Given the description of an element on the screen output the (x, y) to click on. 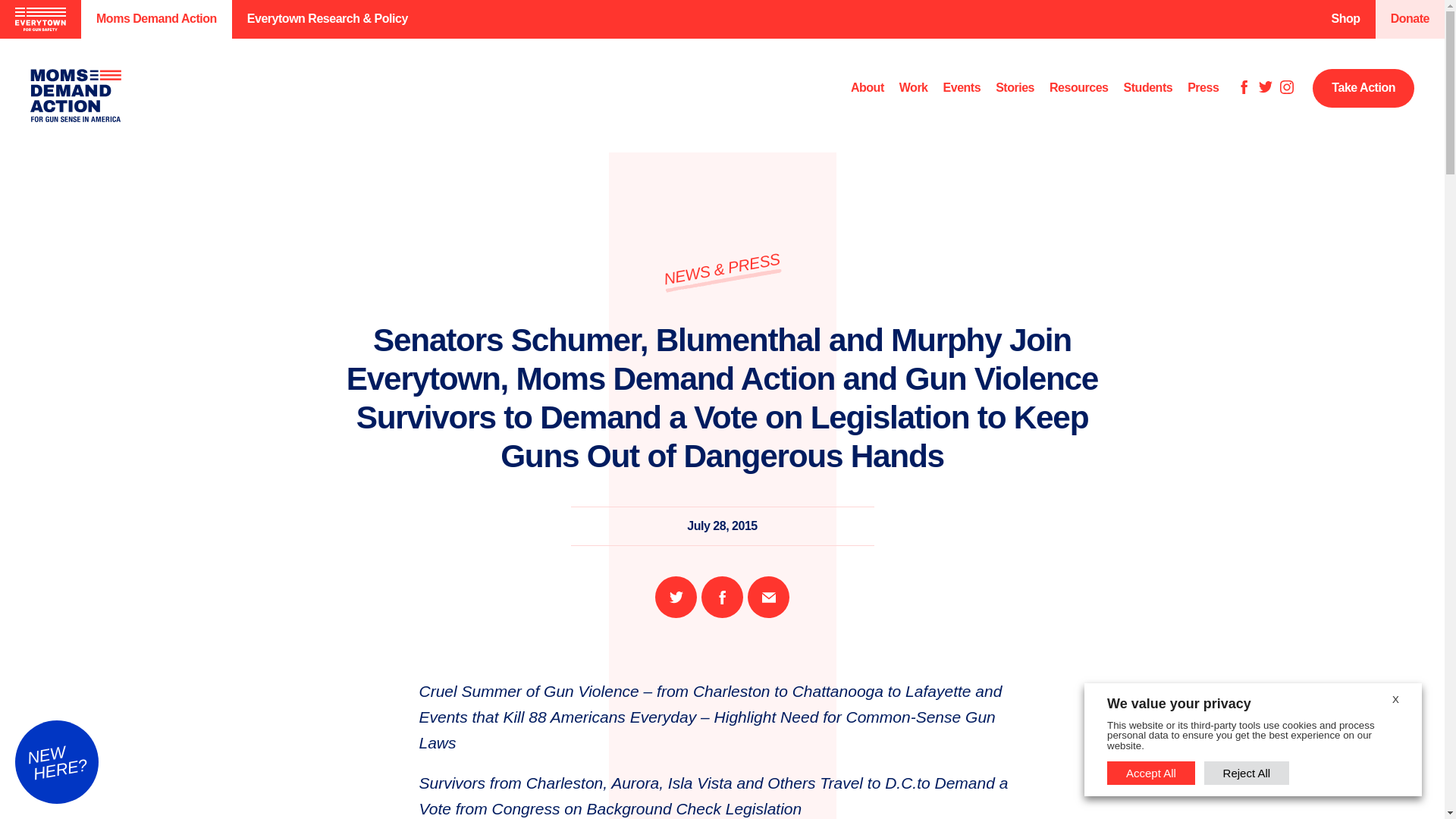
Follow us on Instagram (1286, 88)
Follow us on Twitter (1265, 88)
Take Action (1363, 87)
Resources (1078, 88)
Moms Demand Action (156, 19)
Shop (1345, 19)
Work (913, 88)
Stories (1014, 88)
Follow us on Facebook (1244, 88)
Students (1148, 88)
